Given the description of an element on the screen output the (x, y) to click on. 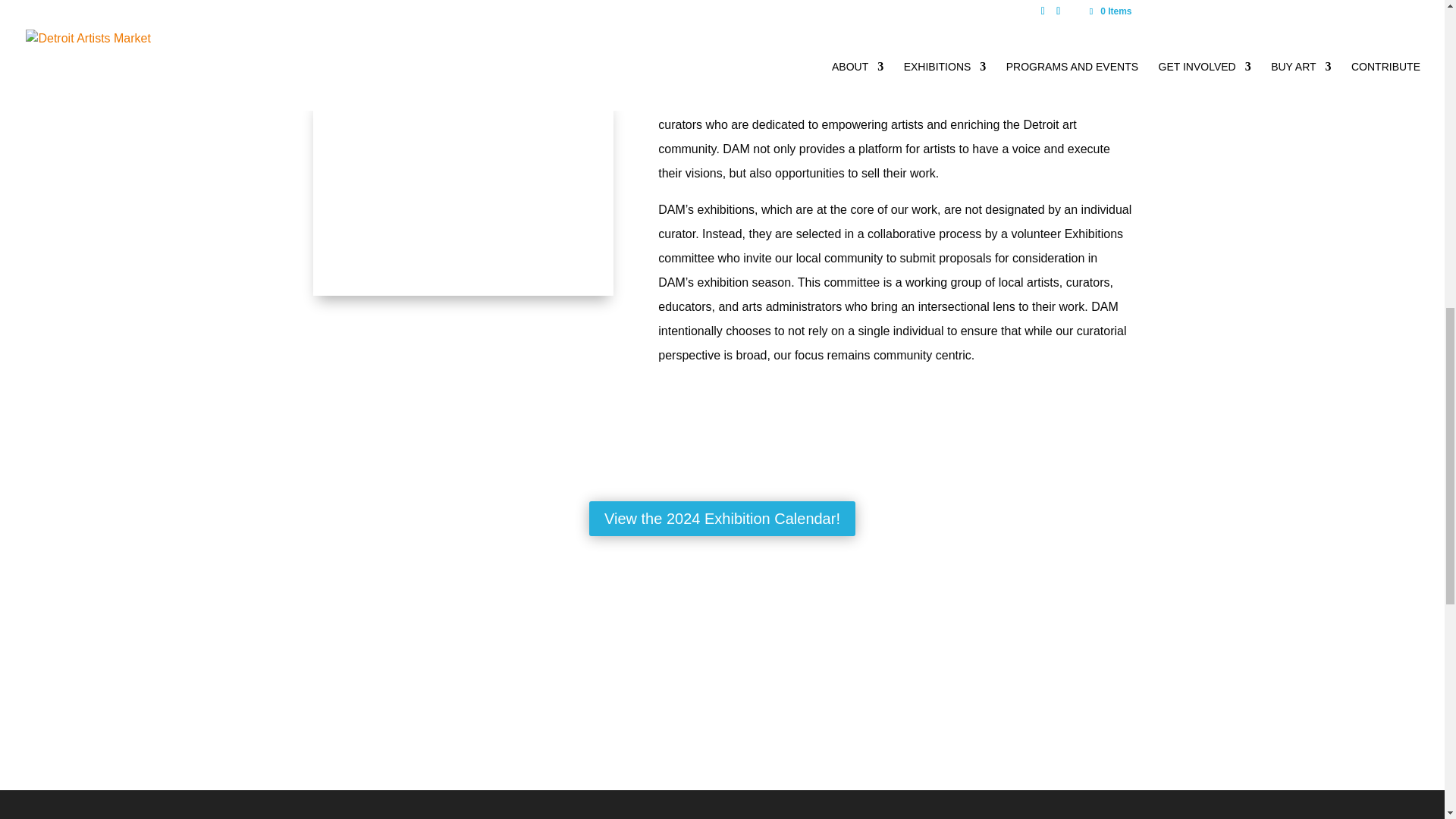
View the 2024 Exhibition Calendar! (722, 518)
3a5a7243 (462, 195)
3A5A8152 (937, 2)
